Given the description of an element on the screen output the (x, y) to click on. 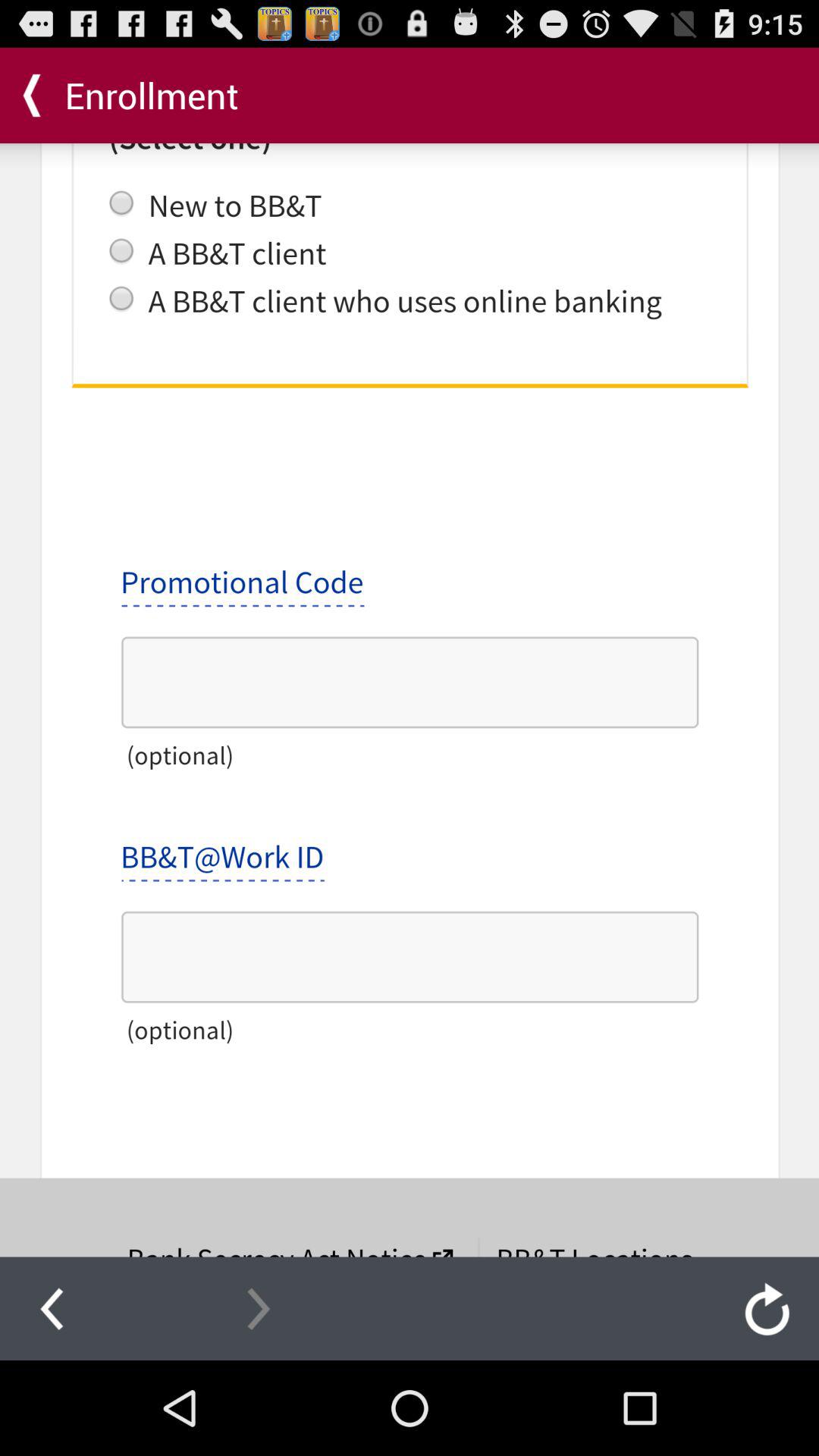
enter information (409, 699)
